Given the description of an element on the screen output the (x, y) to click on. 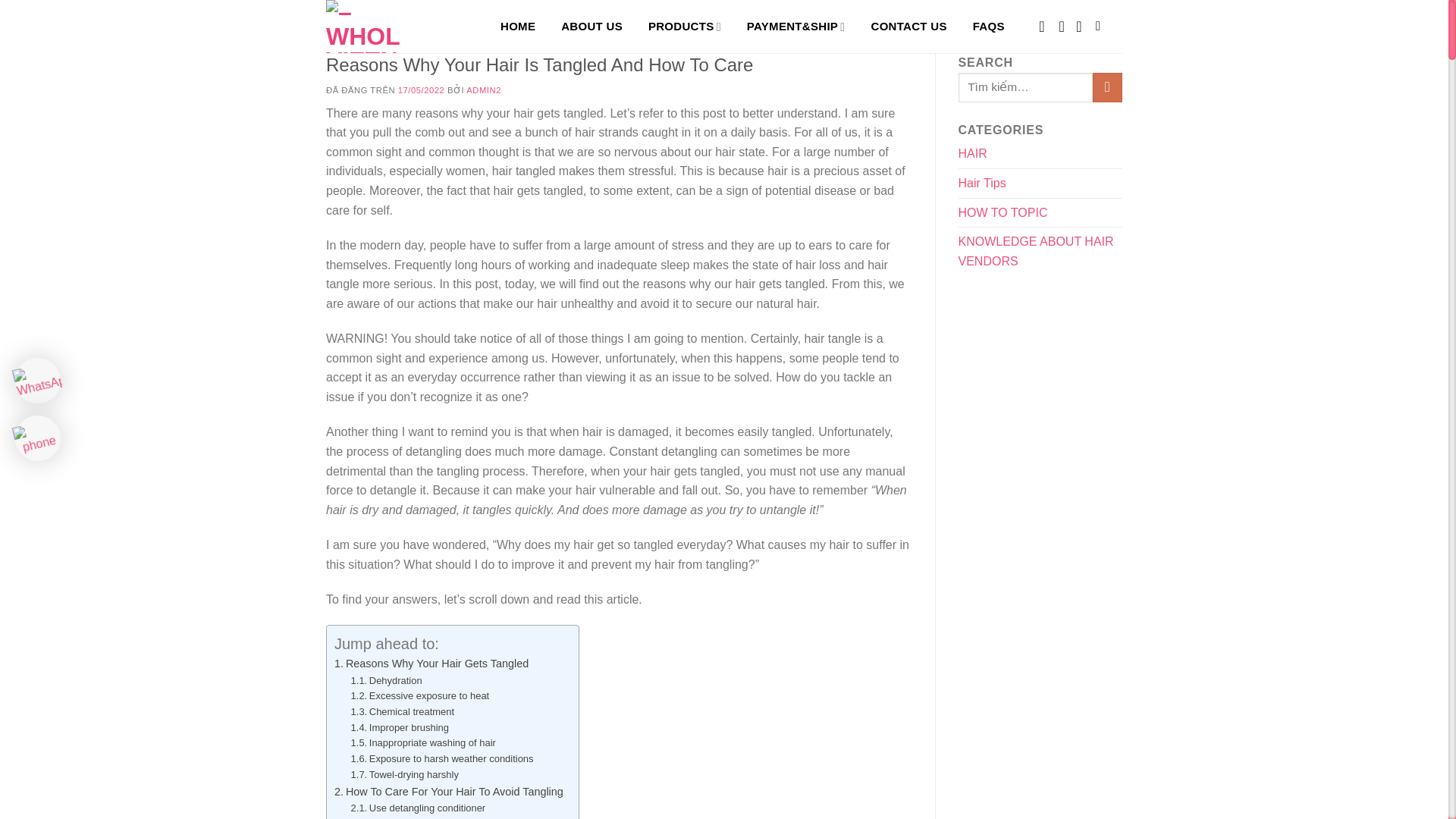
Improper brushing (399, 728)
Dehydration (386, 681)
HOME (520, 26)
Use detangling conditioner (418, 808)
Towel-drying harshly (404, 774)
PRODUCTS (684, 26)
Dehydration (386, 681)
ABOUT US (591, 26)
Towel-drying harshly (404, 774)
ADMIN2 (482, 90)
Reasons Why Your Hair Gets Tangled  (432, 663)
Improper brushing (399, 728)
How To Care For Your Hair To Avoid Tangling (448, 791)
Exposure to harsh weather conditions (442, 759)
